Given the description of an element on the screen output the (x, y) to click on. 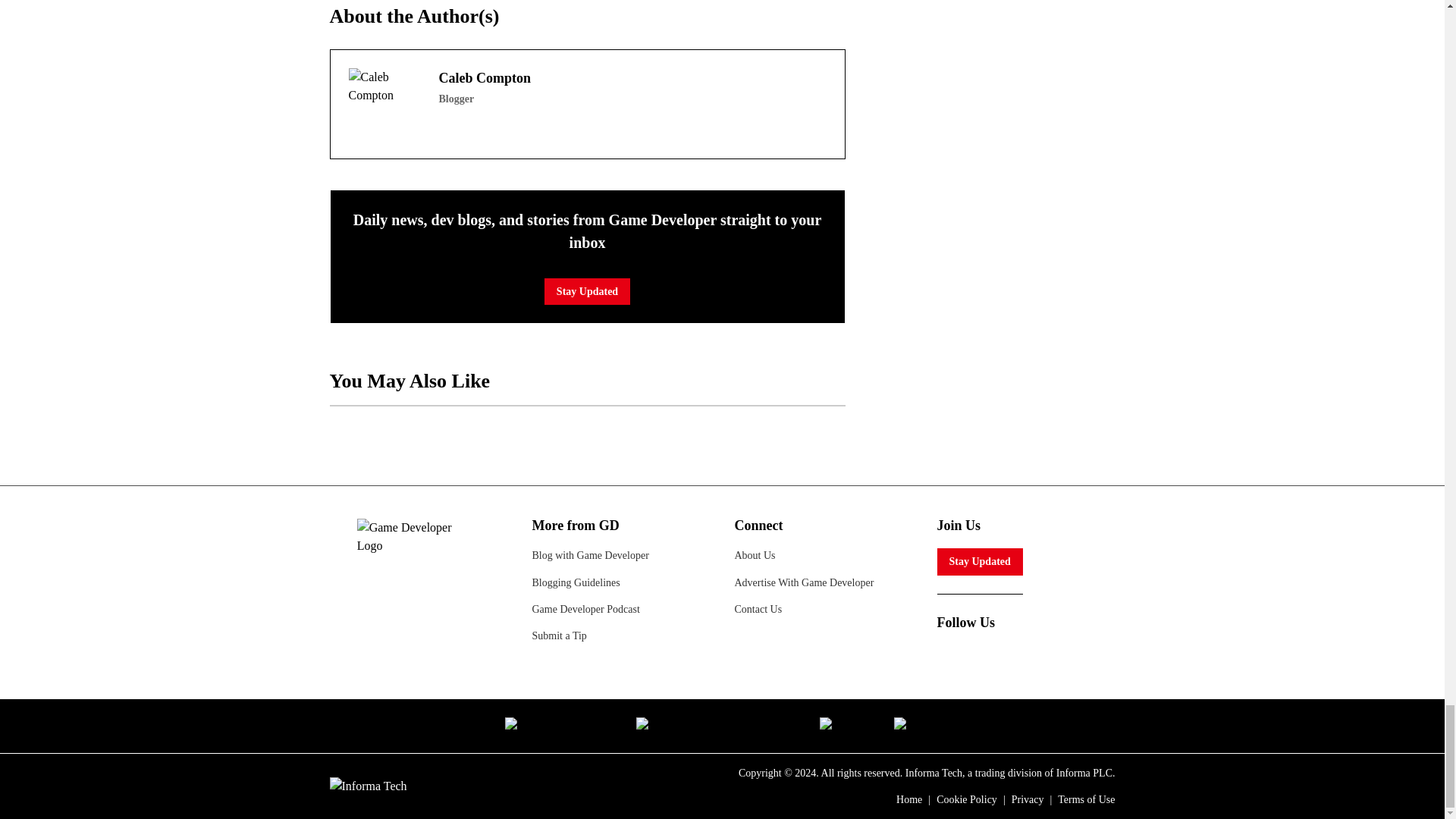
Caleb Compton (384, 103)
